Given the description of an element on the screen output the (x, y) to click on. 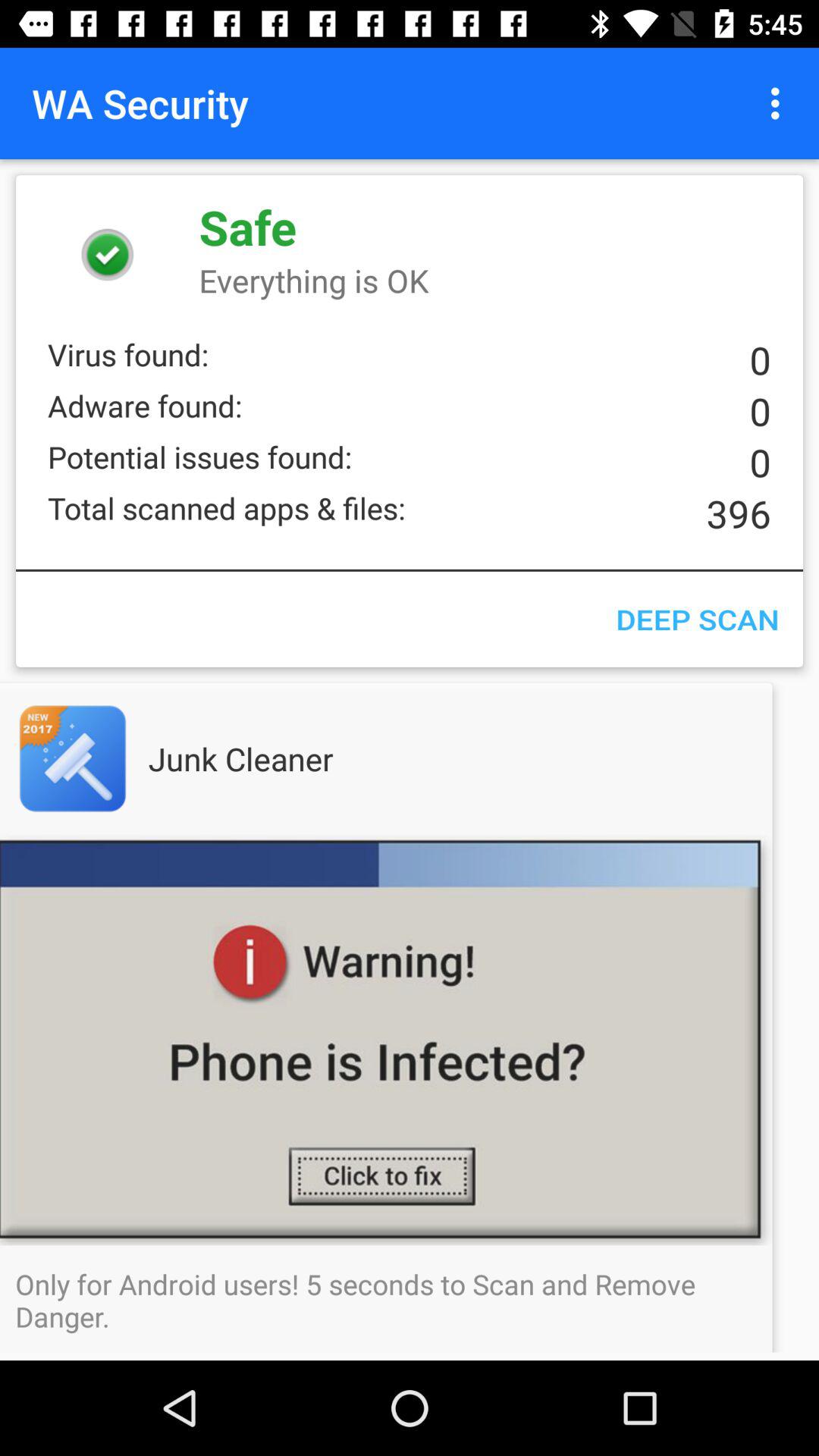
open advertisement (103, 758)
